Given the description of an element on the screen output the (x, y) to click on. 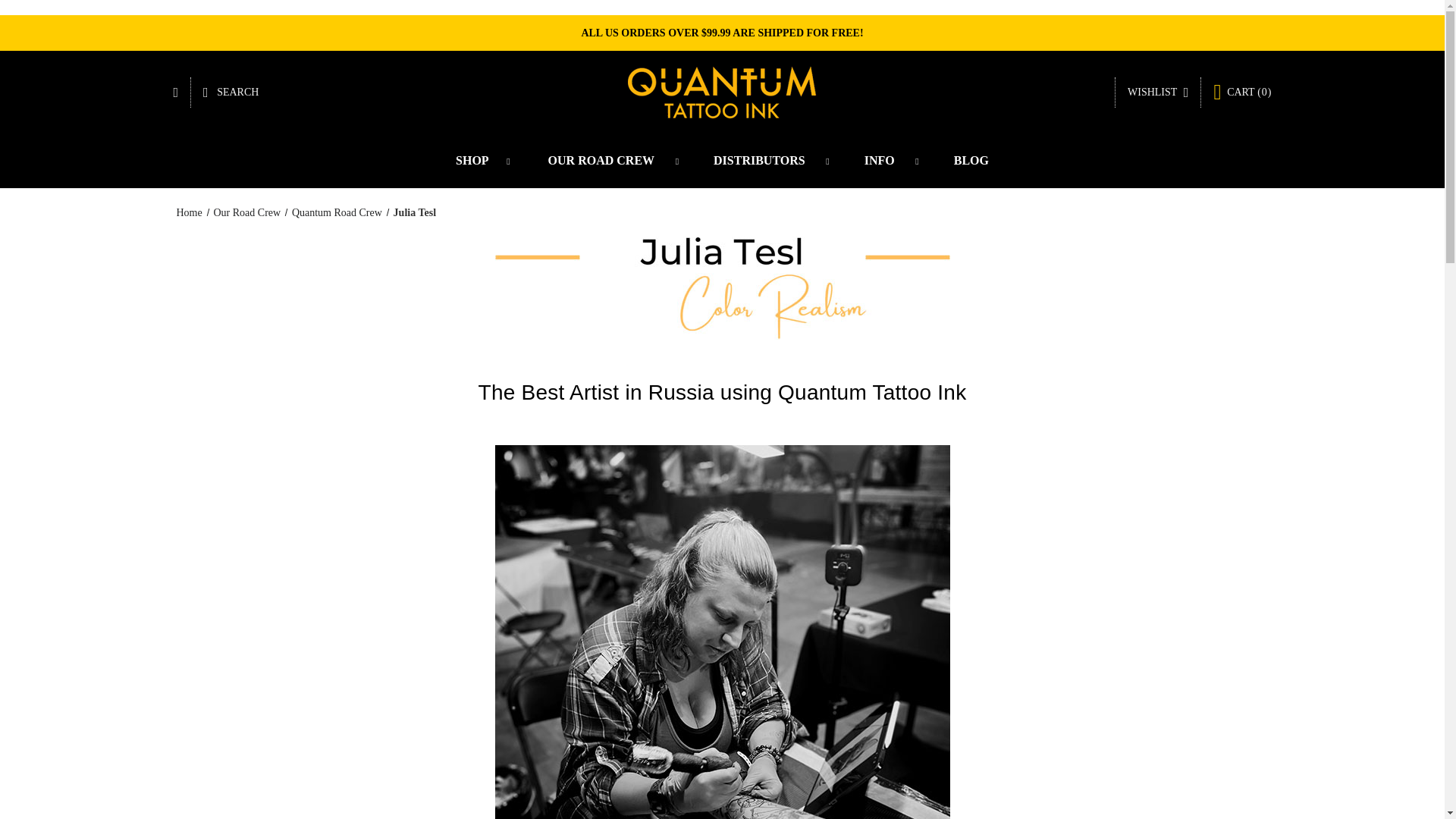
Quantum Tattoo (721, 92)
WISHLIST (1157, 91)
SEARCH (230, 91)
OUR ROAD CREW (604, 160)
SHOP (475, 160)
CART 0 (1241, 92)
